Given the description of an element on the screen output the (x, y) to click on. 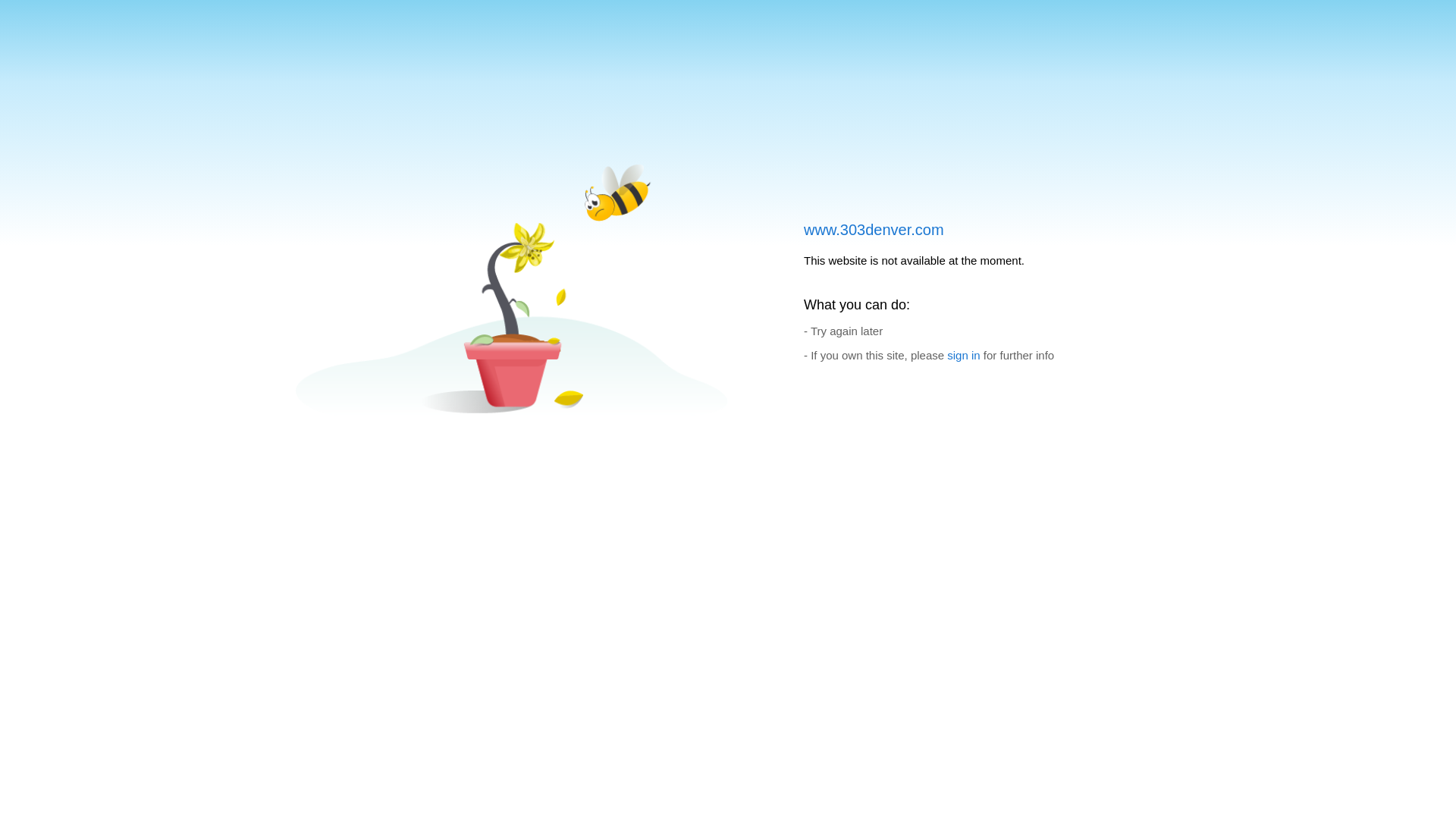
sign in Element type: text (963, 354)
www.303denver.com Element type: text (873, 229)
